Given the description of an element on the screen output the (x, y) to click on. 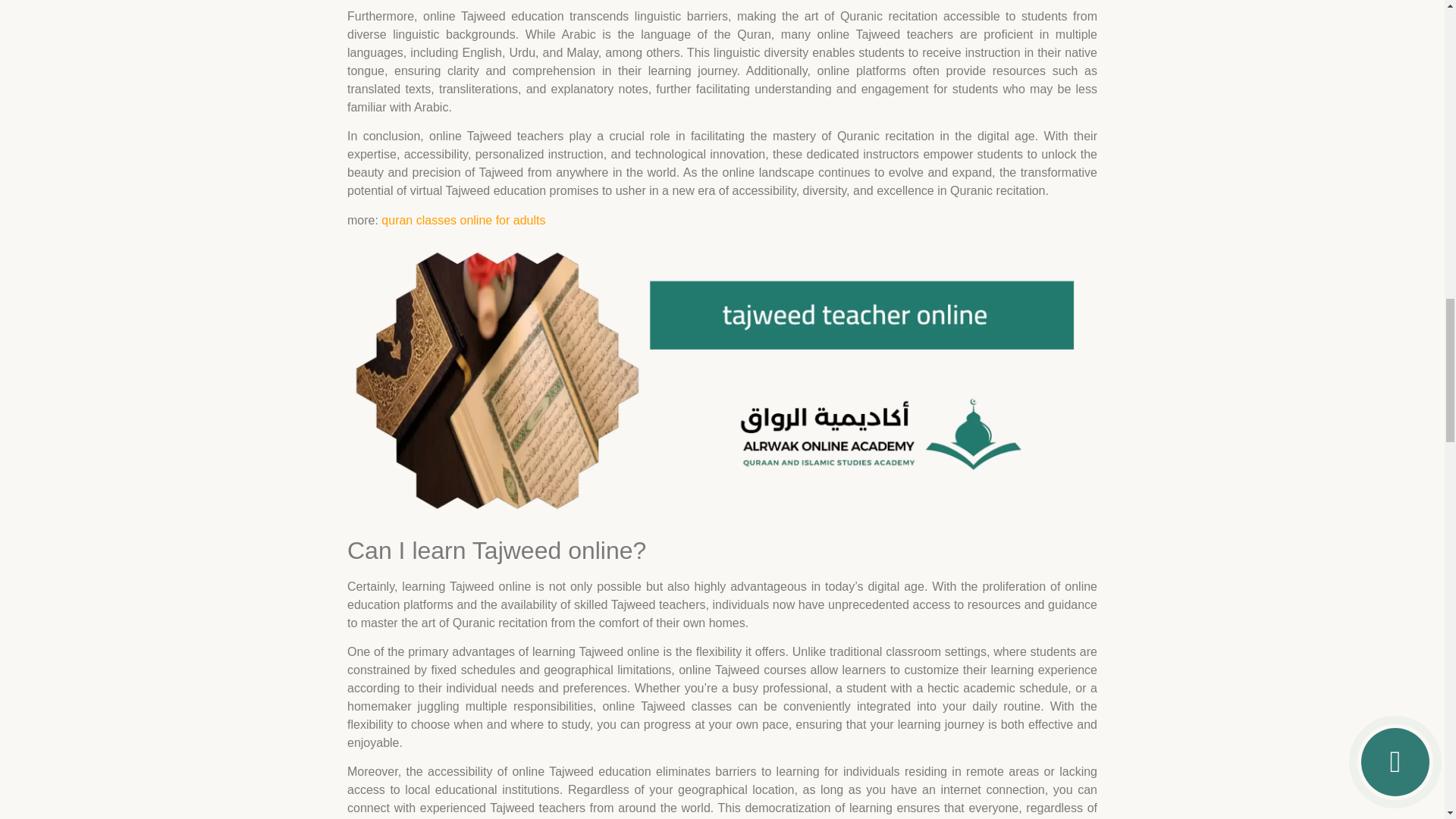
quran classes online for adults (462, 219)
